Given the description of an element on the screen output the (x, y) to click on. 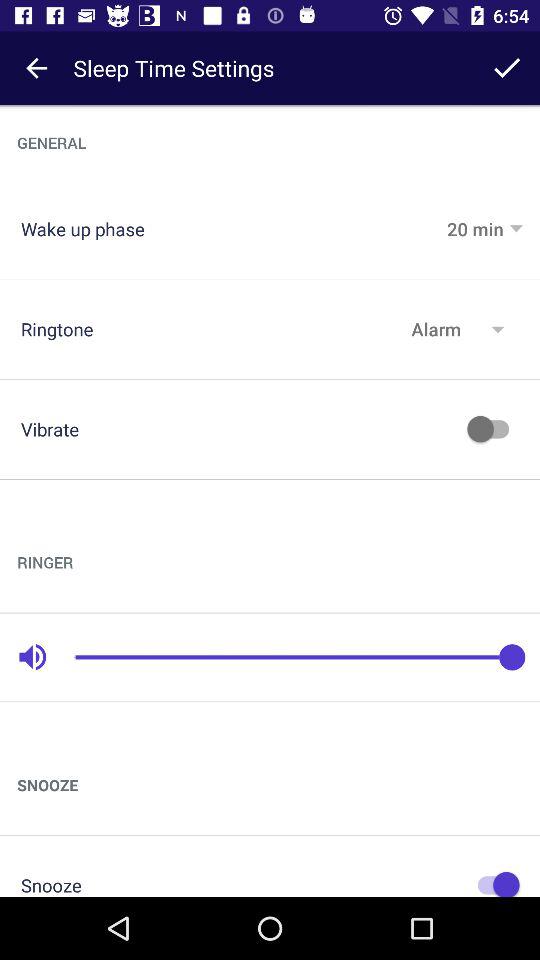
viberate option (493, 429)
